Given the description of an element on the screen output the (x, y) to click on. 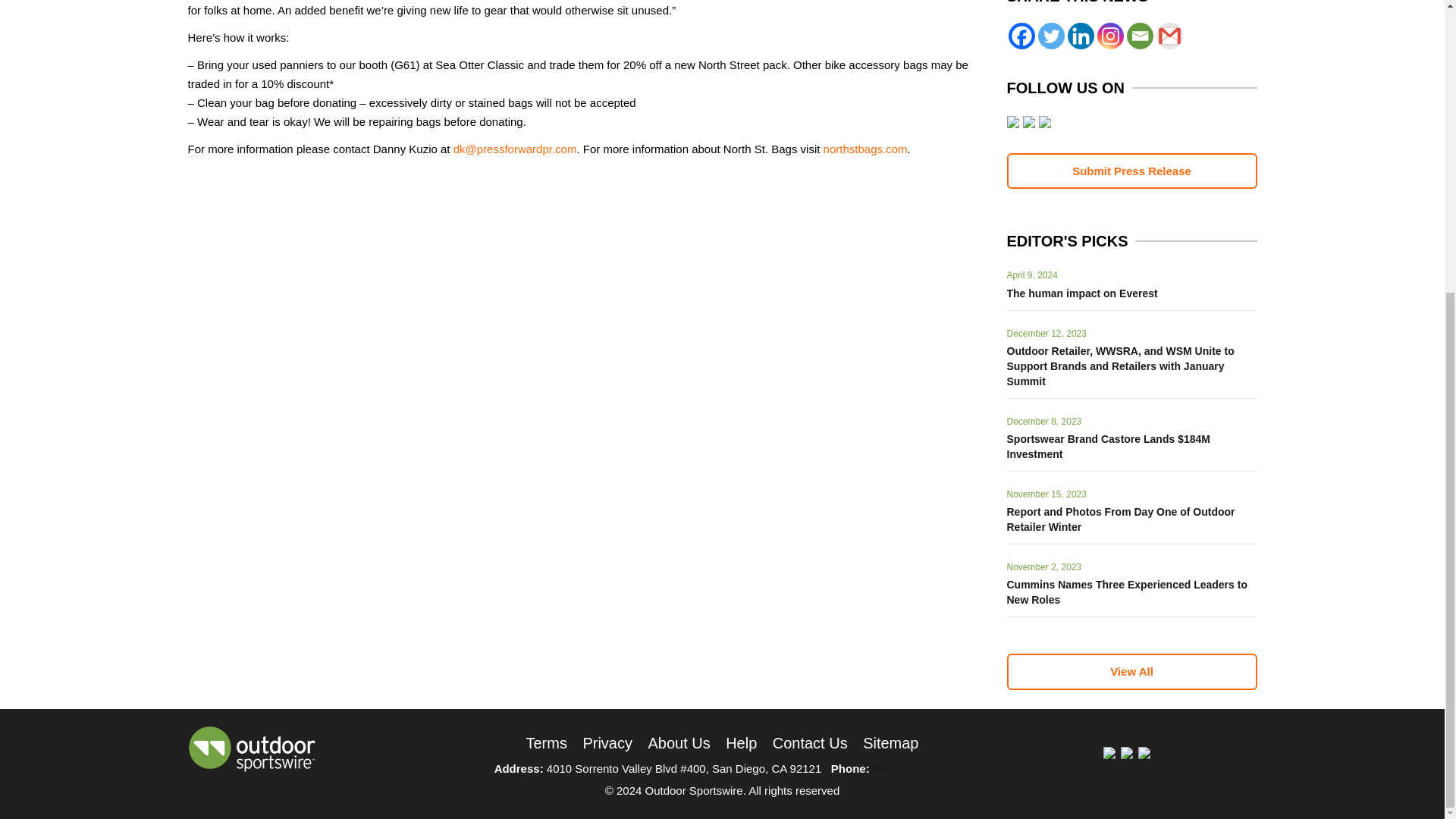
Twitter (1050, 35)
Google Gmail (1169, 35)
Facebook (1022, 35)
Email (1139, 35)
Linkedin (1080, 35)
Instagram (1109, 35)
